Given the description of an element on the screen output the (x, y) to click on. 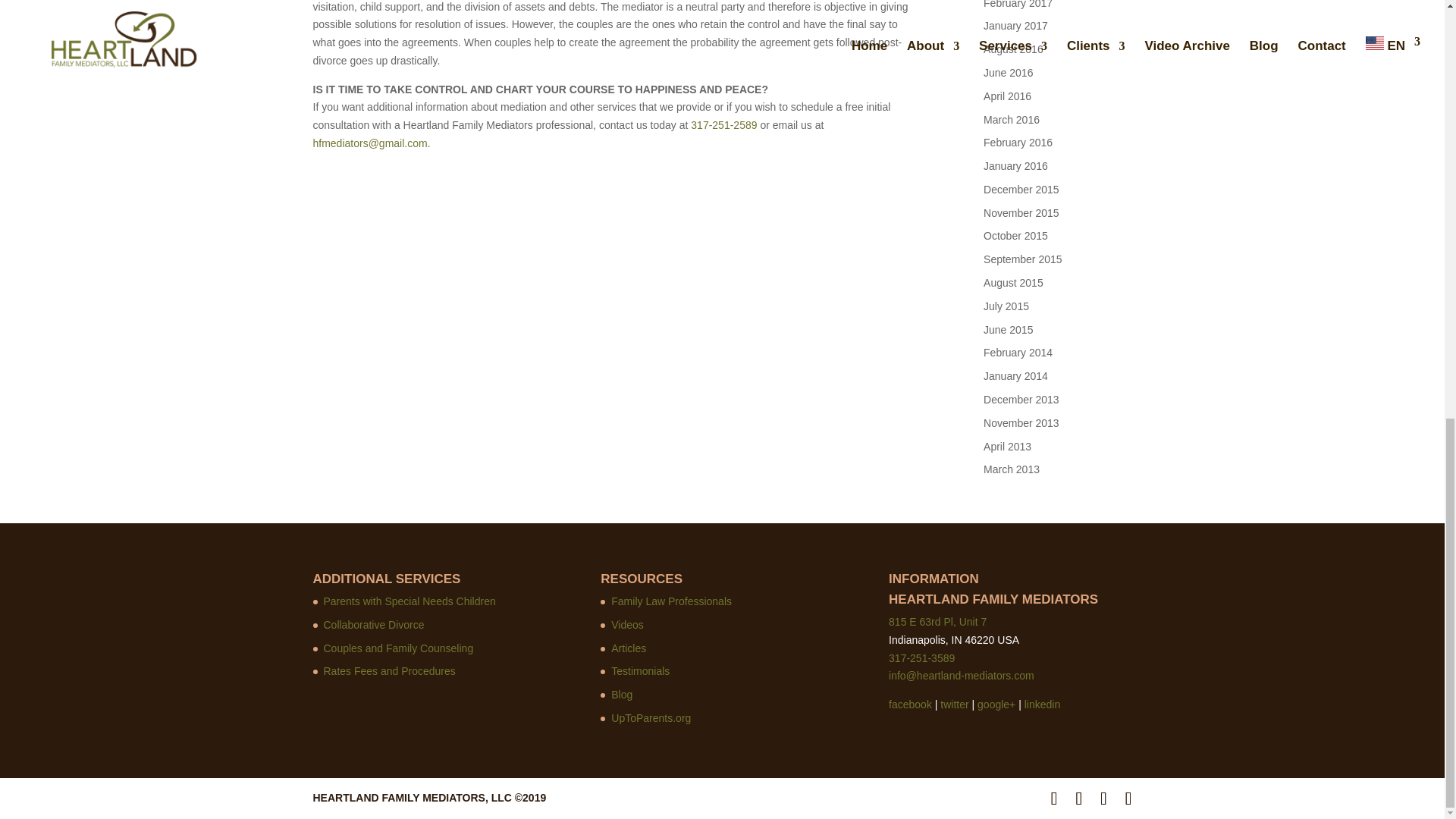
Articles (628, 648)
Up To Parents (650, 717)
Testimonials (640, 671)
Family Law Professionals (671, 601)
Follow Heartland Family Mediators on Twitter (954, 704)
Like Heartland Family Mediators on Facebook (909, 704)
Read the Blog (621, 694)
Videos (627, 624)
